Given the description of an element on the screen output the (x, y) to click on. 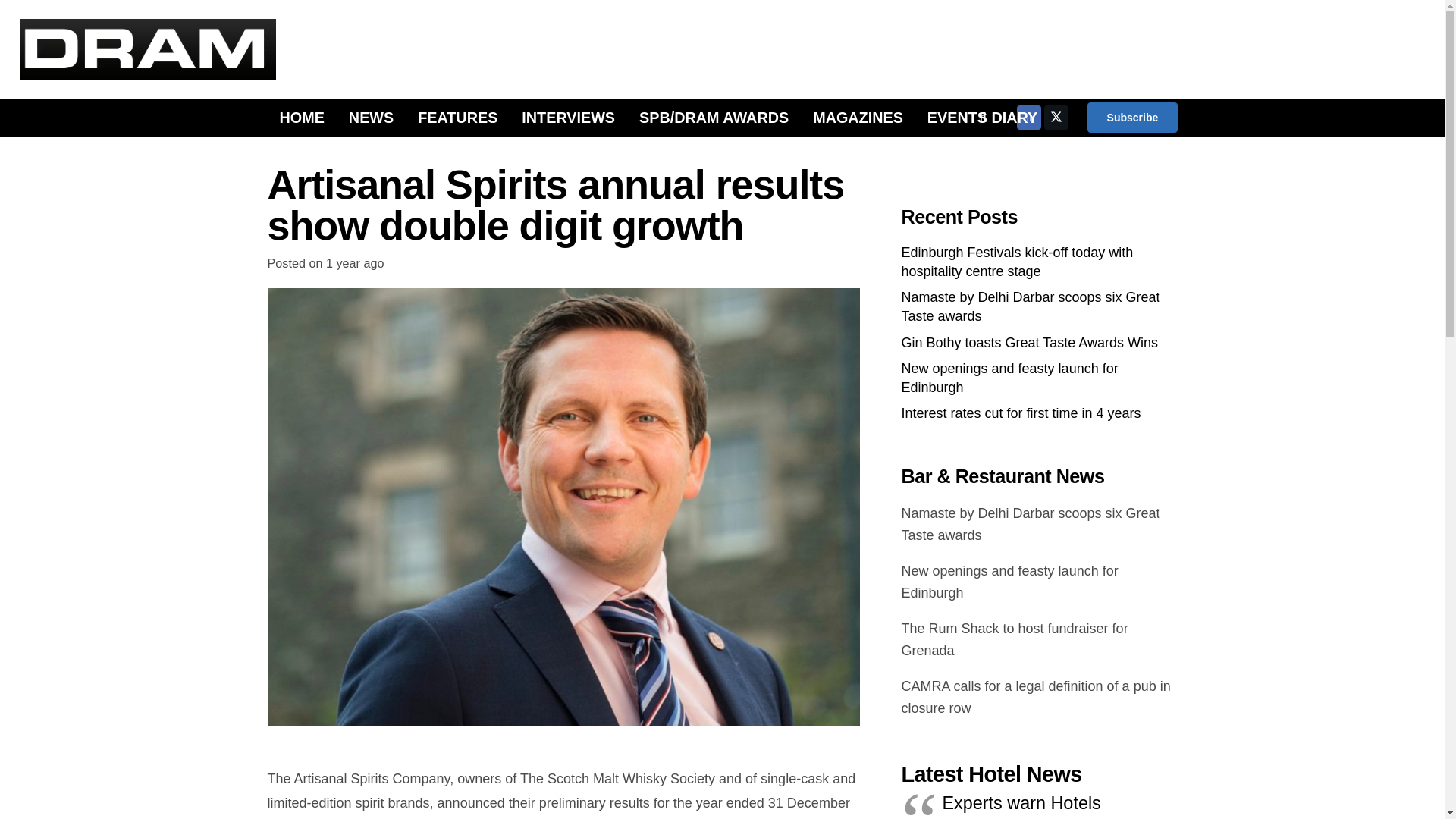
MAGAZINES (857, 117)
HOME (301, 117)
New openings and feasty launch for Edinburgh (1009, 377)
Twitter (1055, 117)
Facebook (1028, 117)
EVENTS DIARY (982, 117)
INTERVIEWS (568, 117)
NEWS (371, 117)
FEATURES (457, 117)
Subscribe (1131, 116)
